Given the description of an element on the screen output the (x, y) to click on. 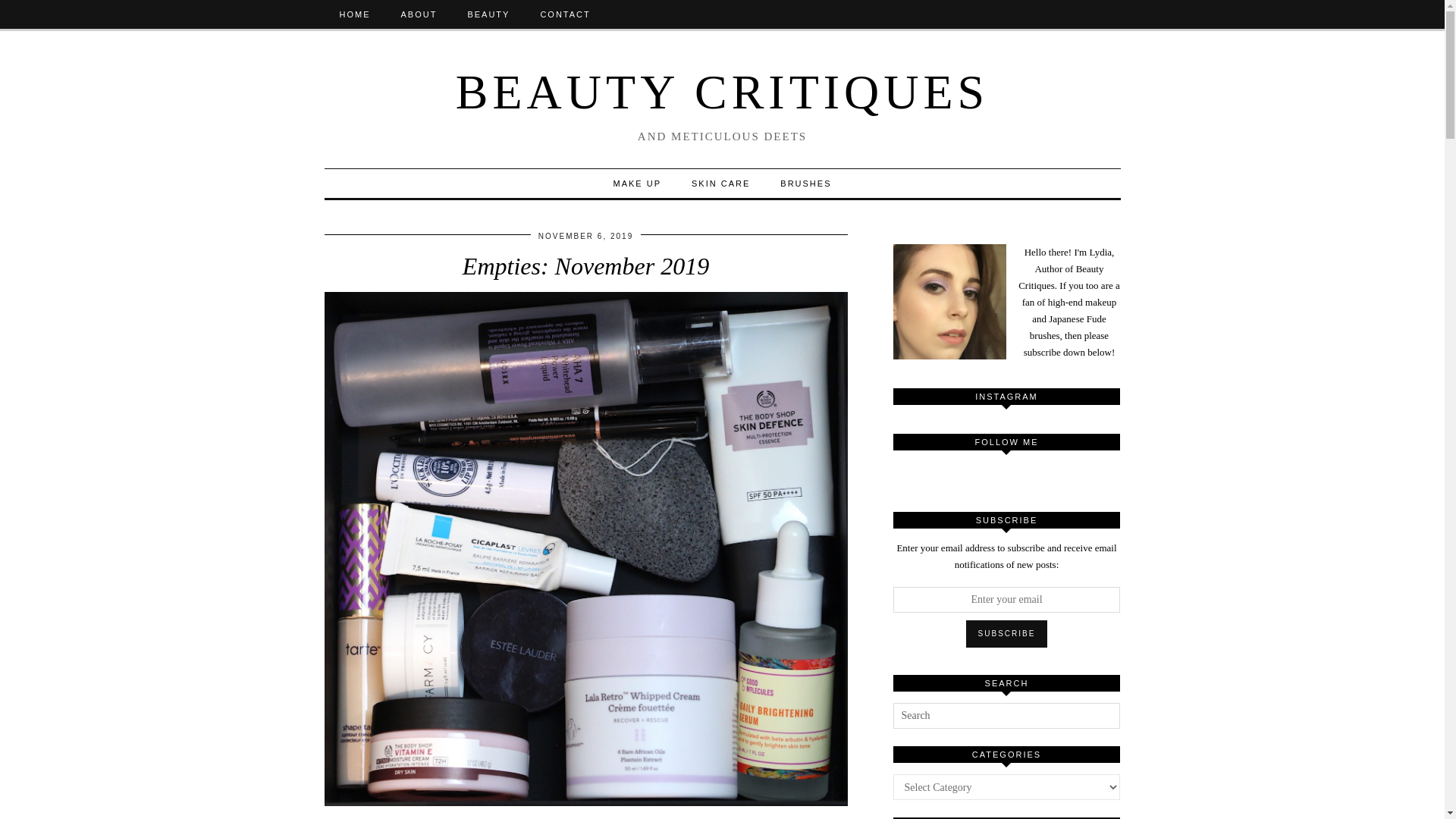
BEAUTY (487, 14)
Beauty Critiques (721, 91)
HOME (354, 14)
BEAUTY CRITIQUES (721, 91)
Subscribe (1007, 633)
ABOUT (418, 14)
